Given the description of an element on the screen output the (x, y) to click on. 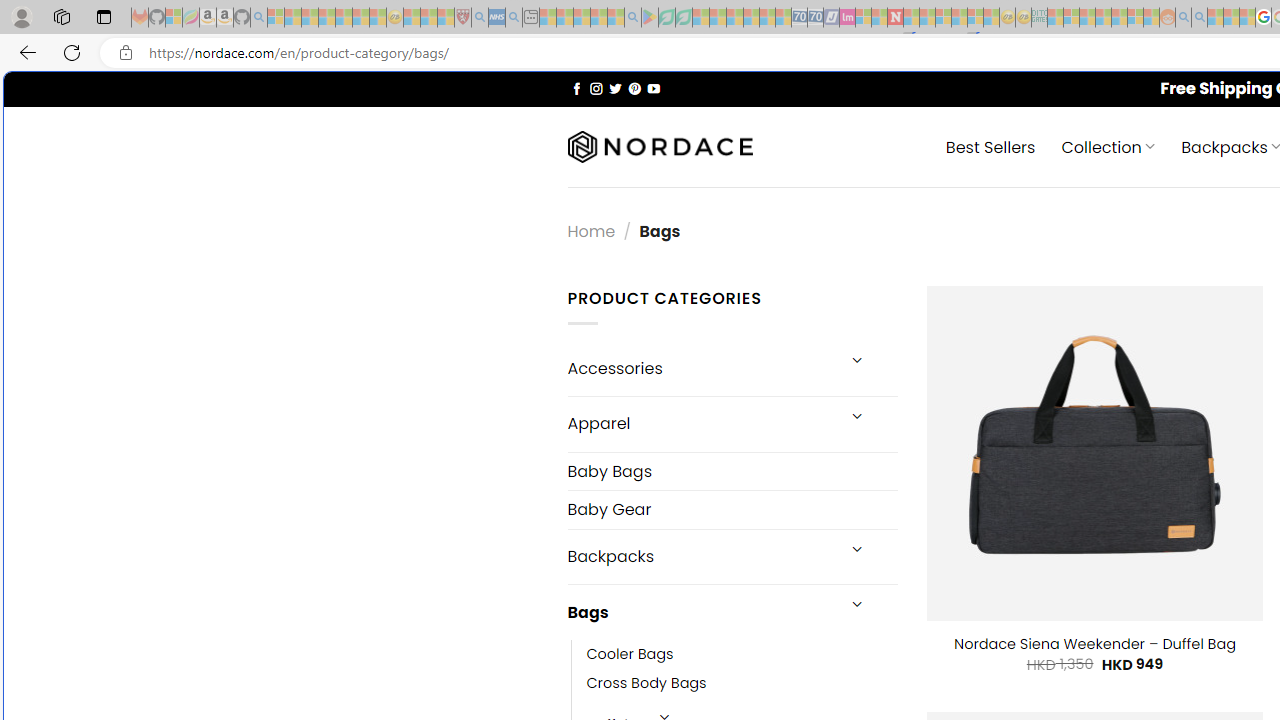
Cross Body Bags (742, 683)
Follow on Instagram (596, 88)
Cooler Bags (630, 655)
